Given the description of an element on the screen output the (x, y) to click on. 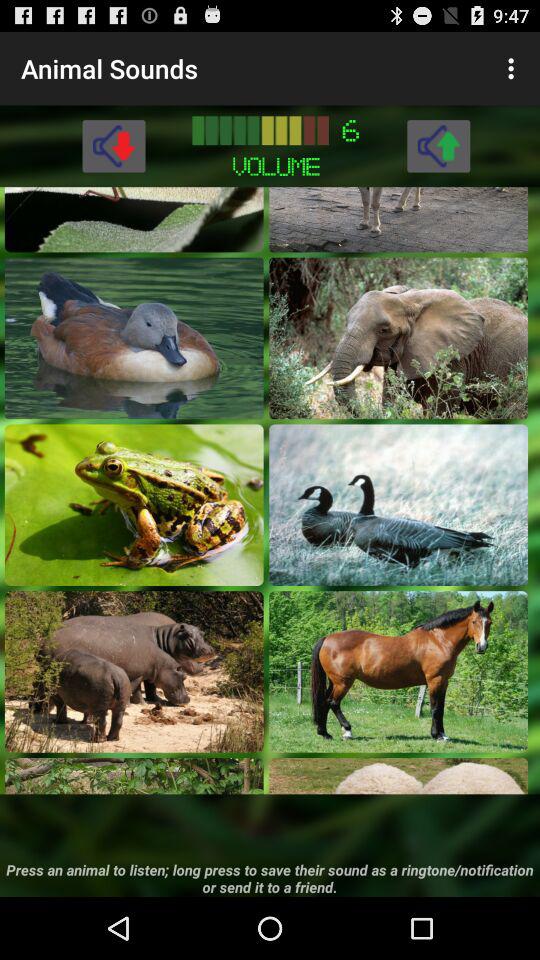
click horse icon (398, 671)
